Given the description of an element on the screen output the (x, y) to click on. 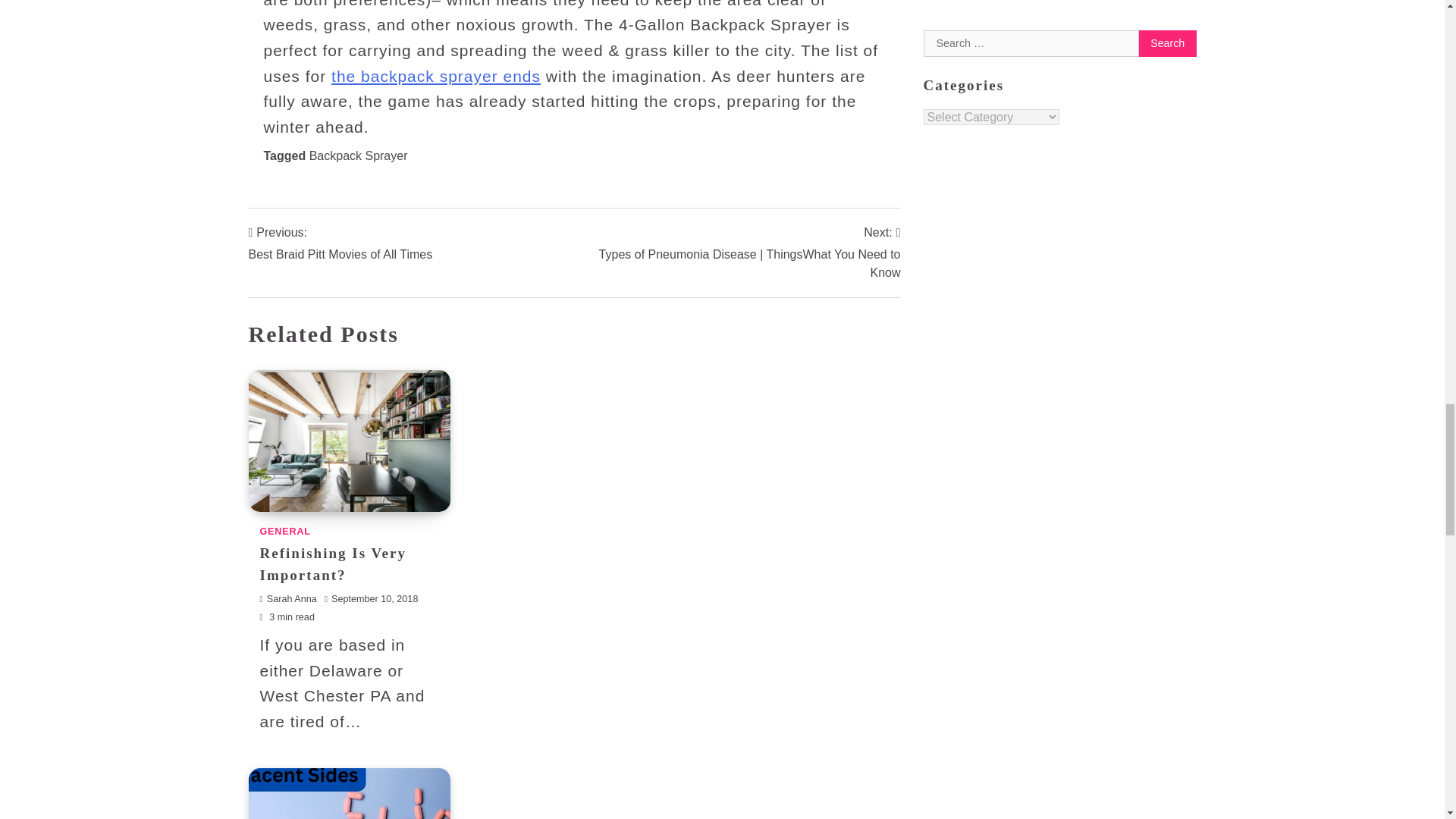
the backpack sprayer ends (435, 76)
Backpack Sprayer (357, 155)
Sarah Anna (287, 598)
GENERAL (284, 531)
Refinishing Is Very Important? (340, 243)
